Given the description of an element on the screen output the (x, y) to click on. 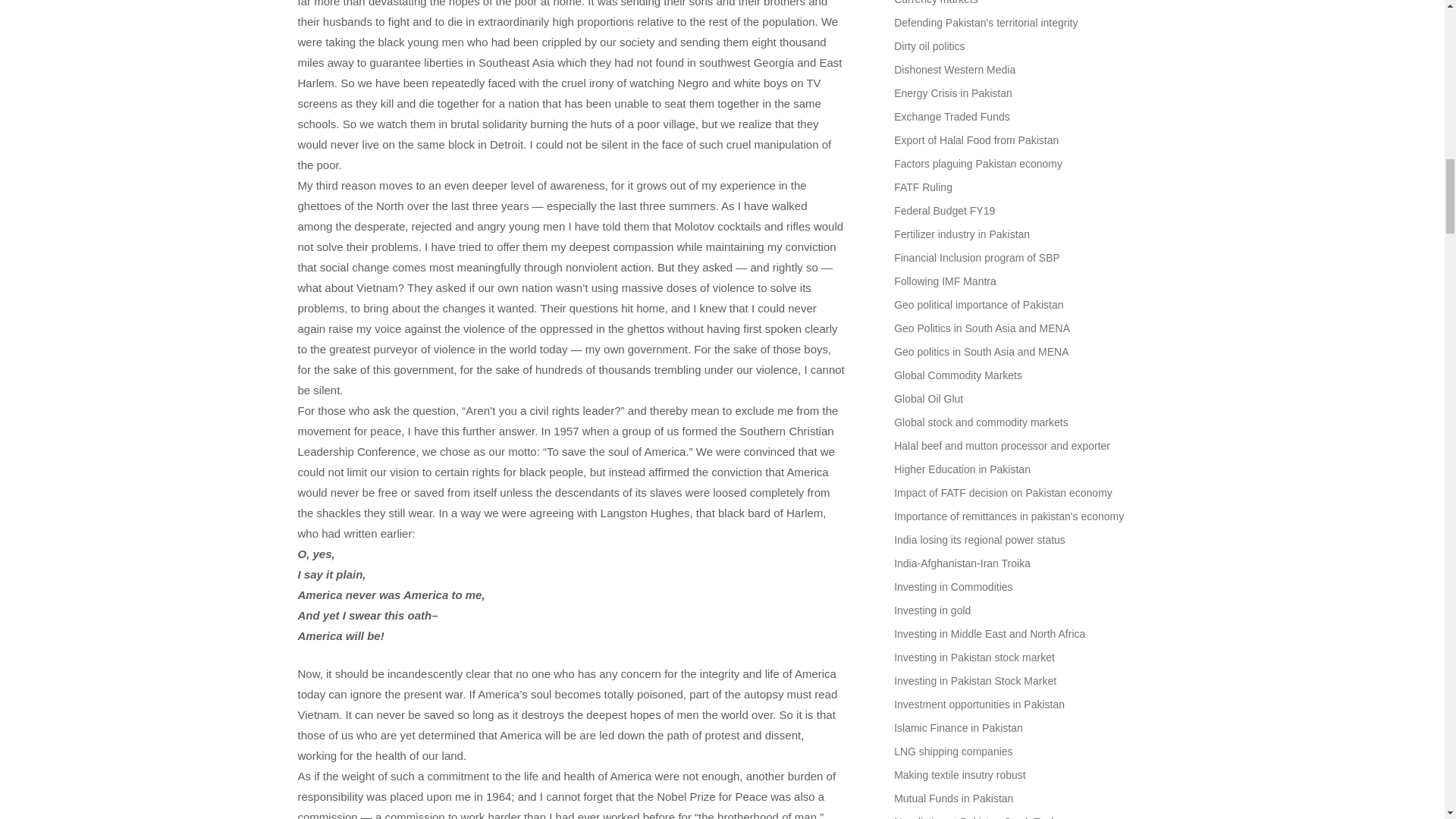
Fertilizer industry in Pakistan (961, 234)
Dishonest Western Media (953, 69)
Exchange Traded Funds (951, 116)
Defending Pakistan's territorial integrity (985, 22)
Following IMF Mantra (944, 281)
Energy Crisis in Pakistan (952, 92)
Federal Budget FY19 (943, 210)
Export of Halal Food from Pakistan (975, 140)
FATF Ruling (922, 186)
Factors plaguing Pakistan economy (977, 163)
